Given the description of an element on the screen output the (x, y) to click on. 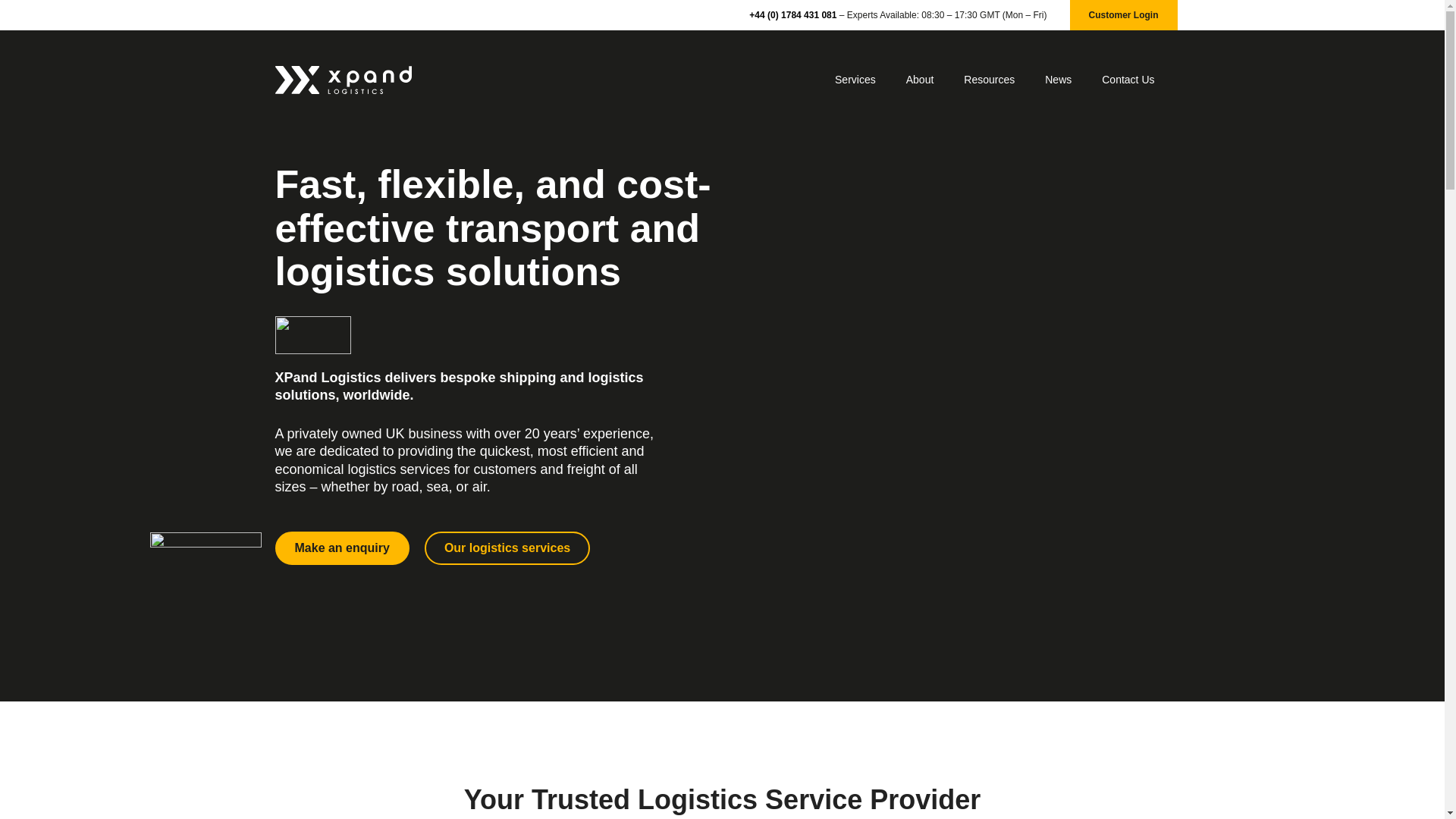
News (1057, 79)
About (920, 79)
Resources (989, 79)
Contact Us (1127, 79)
Customer Login (1122, 15)
Services (855, 79)
